Given the description of an element on the screen output the (x, y) to click on. 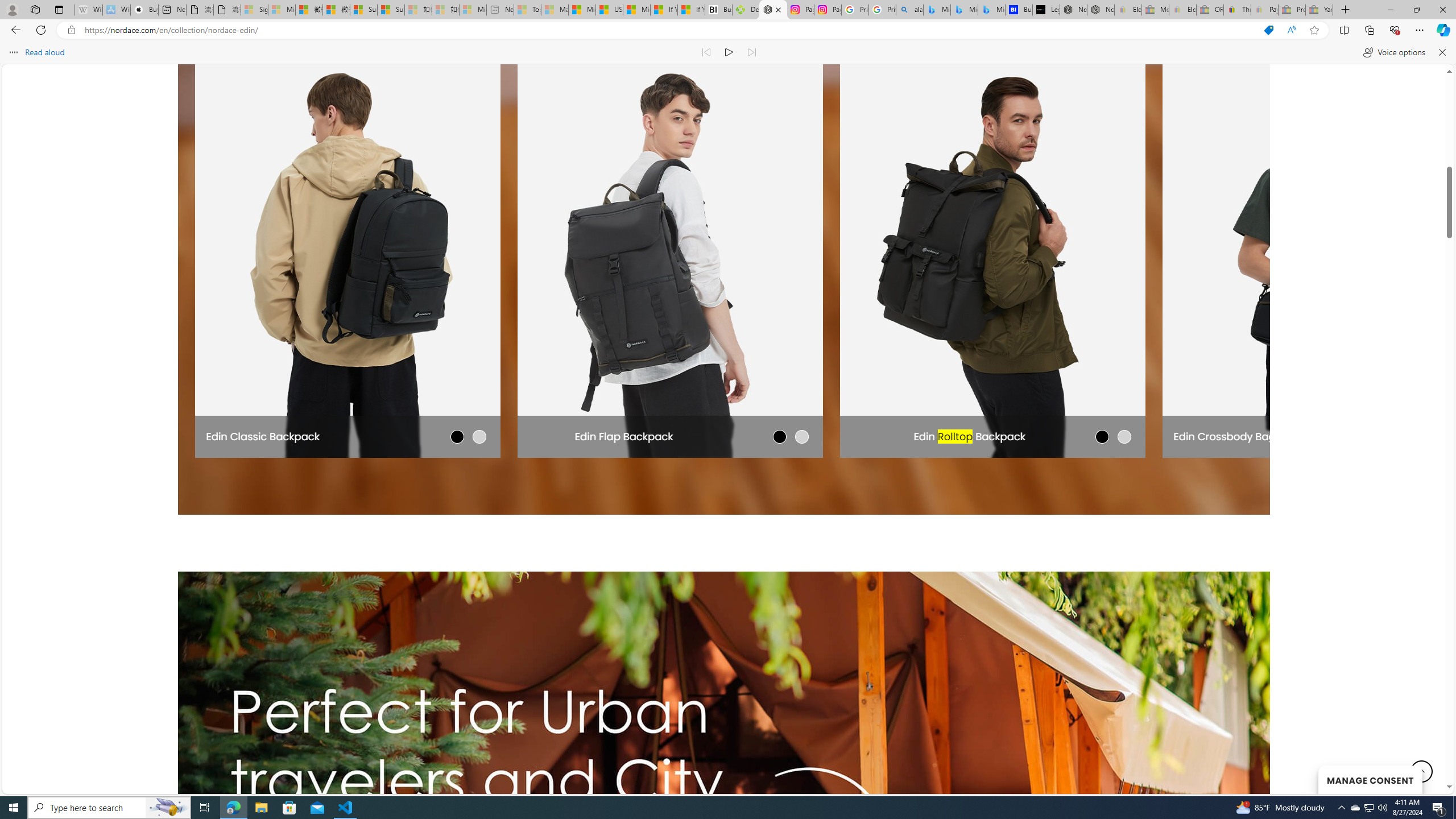
Previous (225, 248)
Class: flickity-button-icon (1221, 248)
MANAGE CONSENT (1369, 779)
Black (456, 436)
Workspaces (34, 9)
Refresh (40, 29)
Close read aloud (1441, 52)
US Heat Deaths Soared To Record High Last Year (609, 9)
Descarga Driver Updater (746, 9)
Voice options (1393, 52)
Read previous paragraph (705, 52)
Microsoft Bing Travel - Flights from Hong Kong to Bangkok (936, 9)
